Given the description of an element on the screen output the (x, y) to click on. 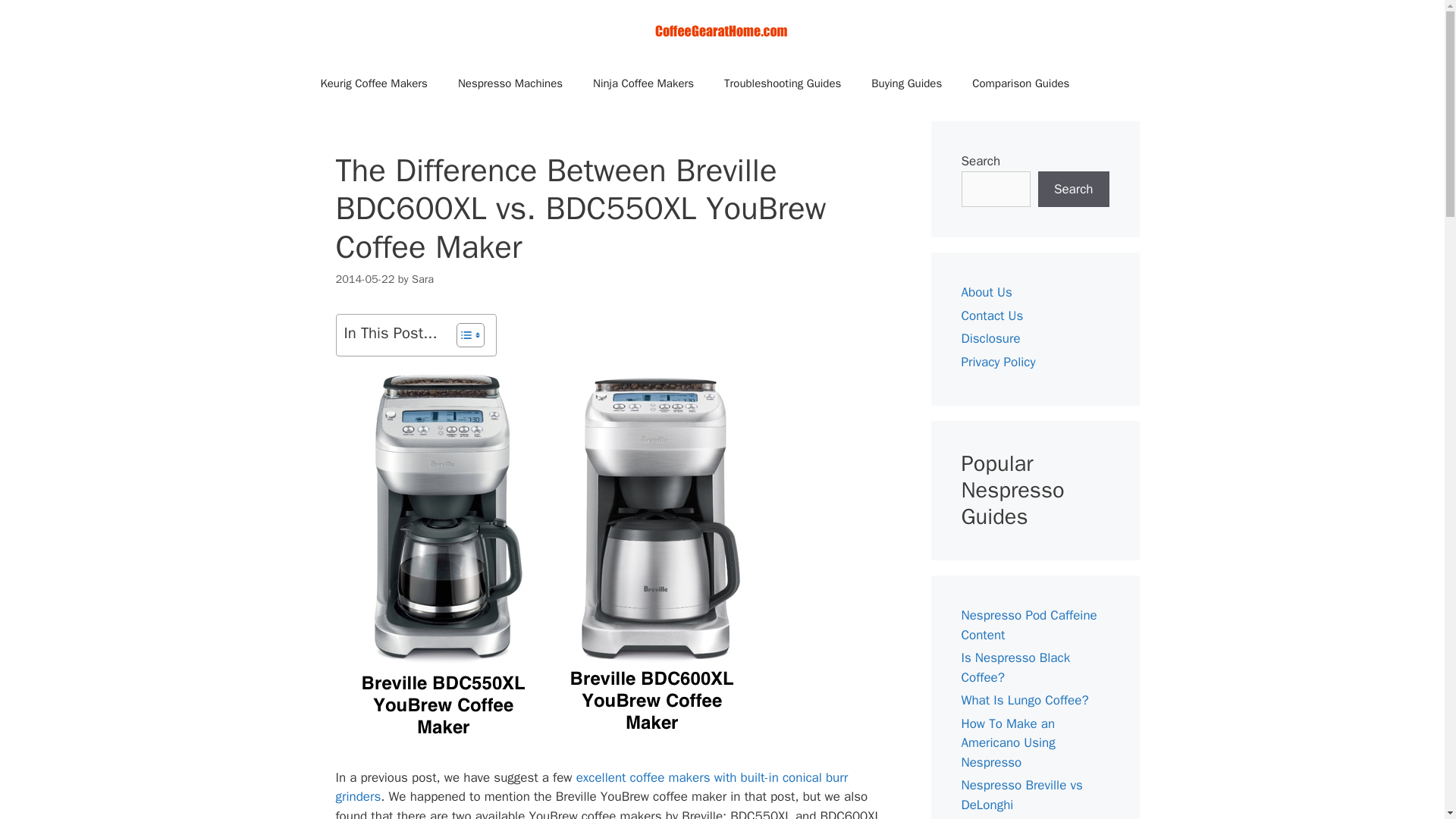
Nespresso Breville vs DeLonghi (1021, 795)
Is Nespresso Black Coffee? (1015, 667)
Nespresso Machines (510, 83)
Ninja Coffee Makers (643, 83)
Search (1073, 189)
View all posts by Sara (422, 278)
Keurig Coffee Makers (373, 83)
Privacy Policy (997, 360)
How To Make an Americano Using Nespresso (1007, 742)
What Is Lungo Coffee? (1024, 700)
Comparison Guides (1020, 83)
Buying Guides (906, 83)
Disclosure (990, 338)
Troubleshooting Guides (782, 83)
Nespresso Pod Caffeine Content (1028, 624)
